Given the description of an element on the screen output the (x, y) to click on. 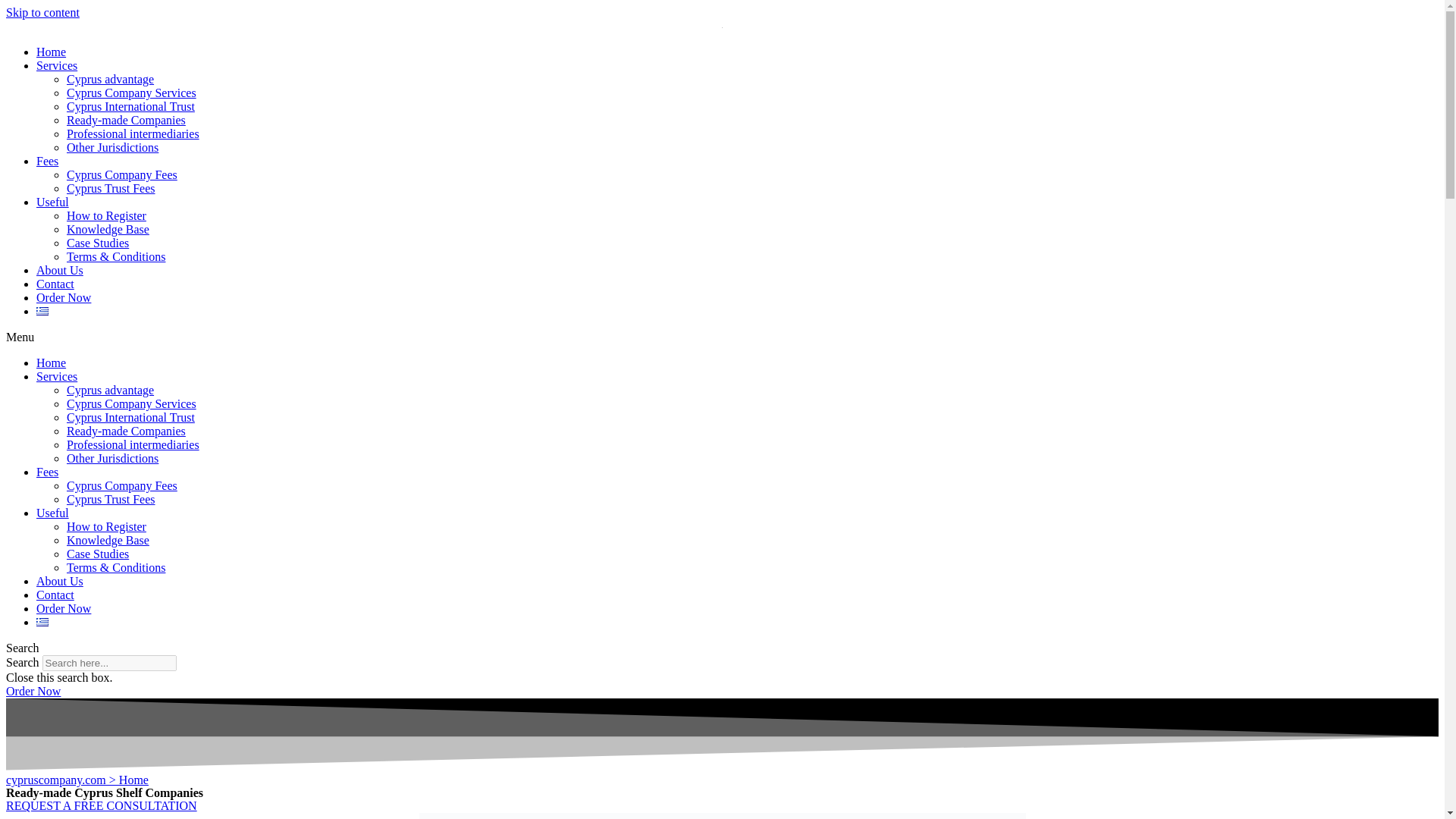
Other Jurisdictions (112, 146)
How to Register (106, 215)
Services (56, 376)
Cyprus International Trust (130, 417)
Useful (52, 201)
Useful (52, 512)
Case Studies (97, 242)
About Us (59, 581)
Cyprus Company Fees (121, 485)
Fees (47, 160)
Fees (47, 472)
How to Register (106, 526)
Cyprus Company Services (131, 403)
Knowledge Base (107, 540)
Cyprus International Trust (130, 106)
